Given the description of an element on the screen output the (x, y) to click on. 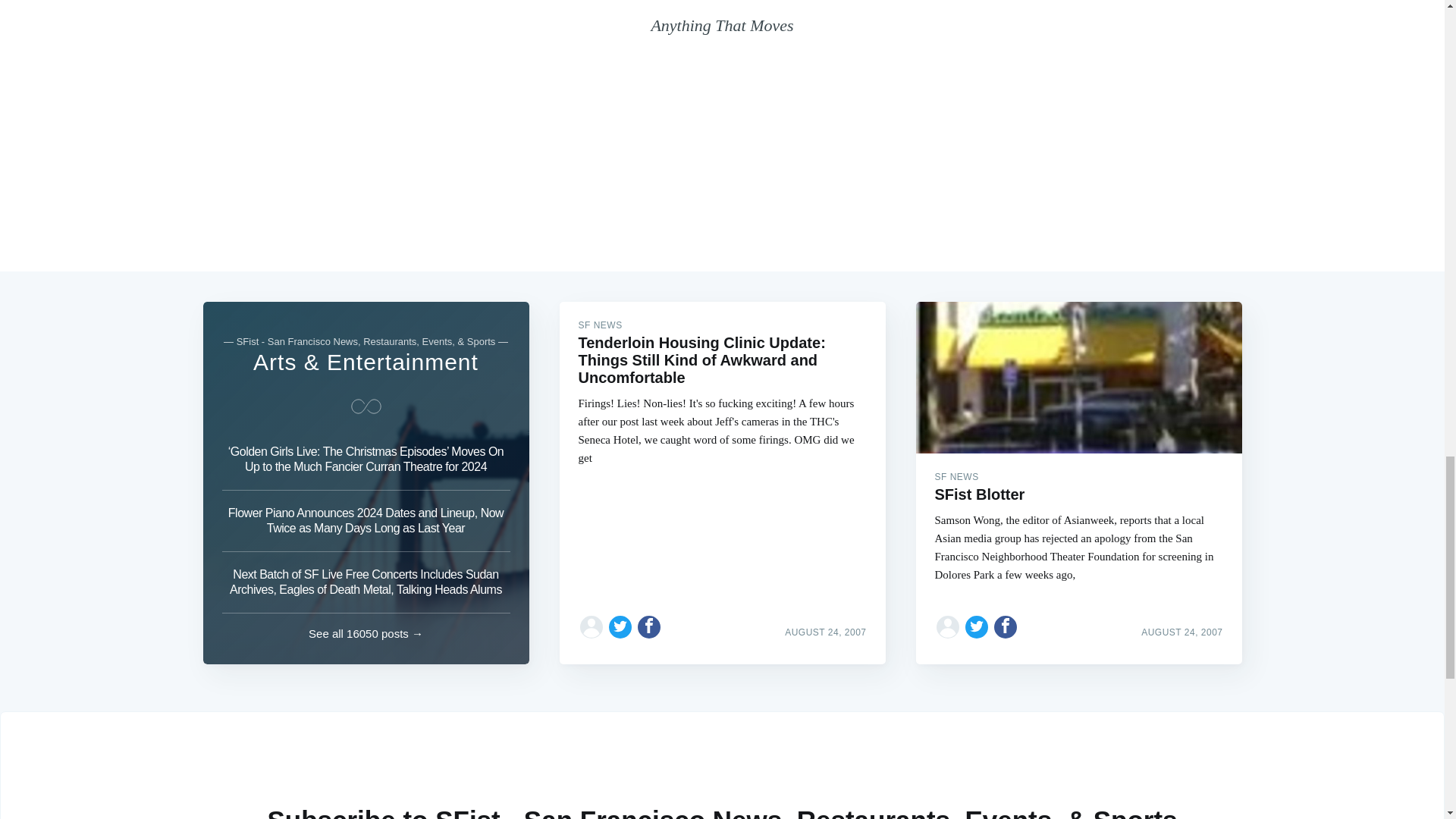
Share on Facebook (1004, 626)
Share on Facebook (649, 626)
Share on Twitter (620, 626)
Share on Twitter (976, 626)
